Given the description of an element on the screen output the (x, y) to click on. 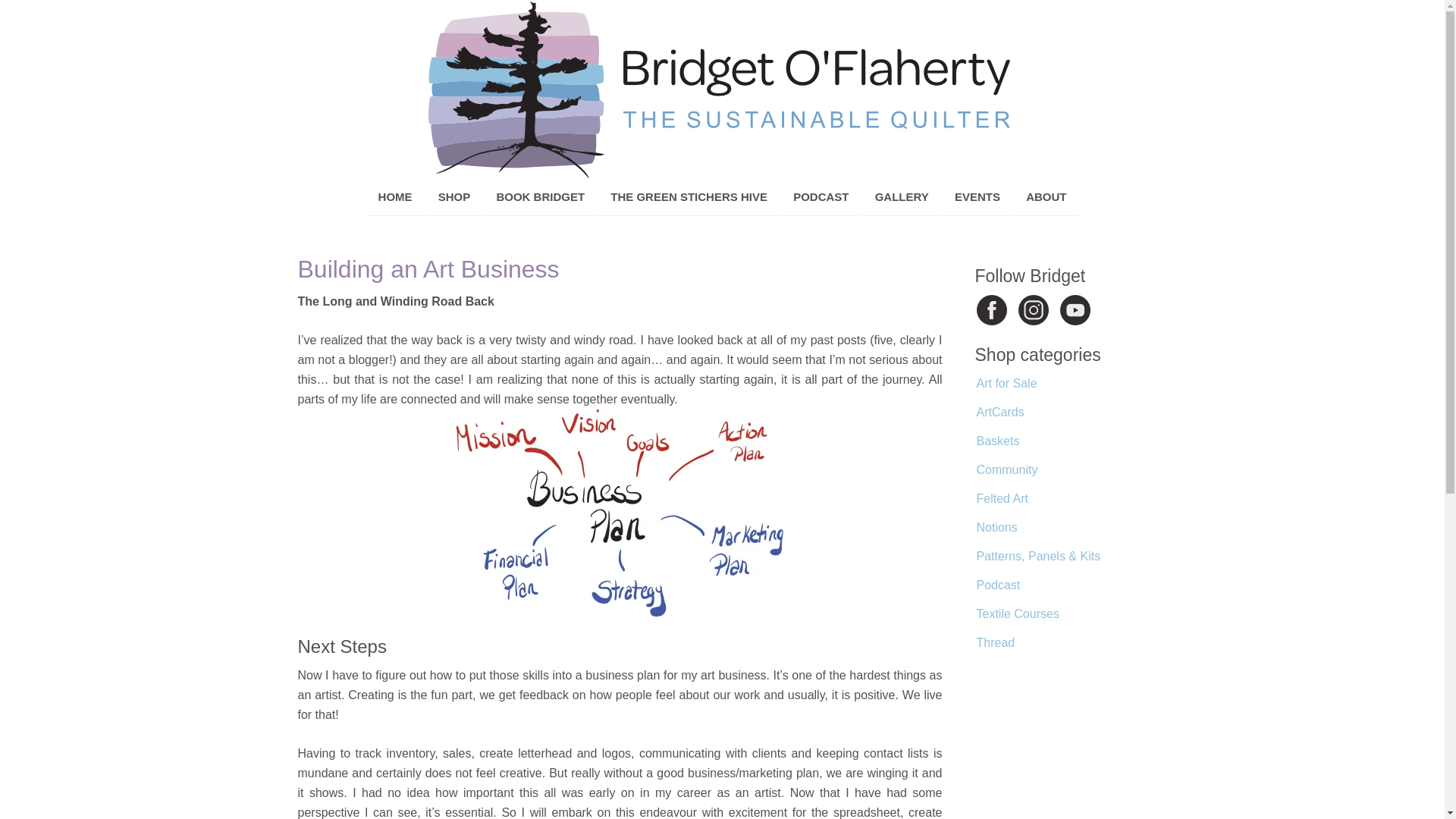
HOME (394, 197)
EVENTS (977, 197)
PODCAST (820, 197)
The Sustainable Quilter Bridget O'Flaherty (722, 89)
ABOUT (1045, 197)
BOOK BRIDGET (539, 197)
GALLERY (901, 197)
THE GREEN STICHERS HIVE (688, 197)
SHOP (453, 197)
